Given the description of an element on the screen output the (x, y) to click on. 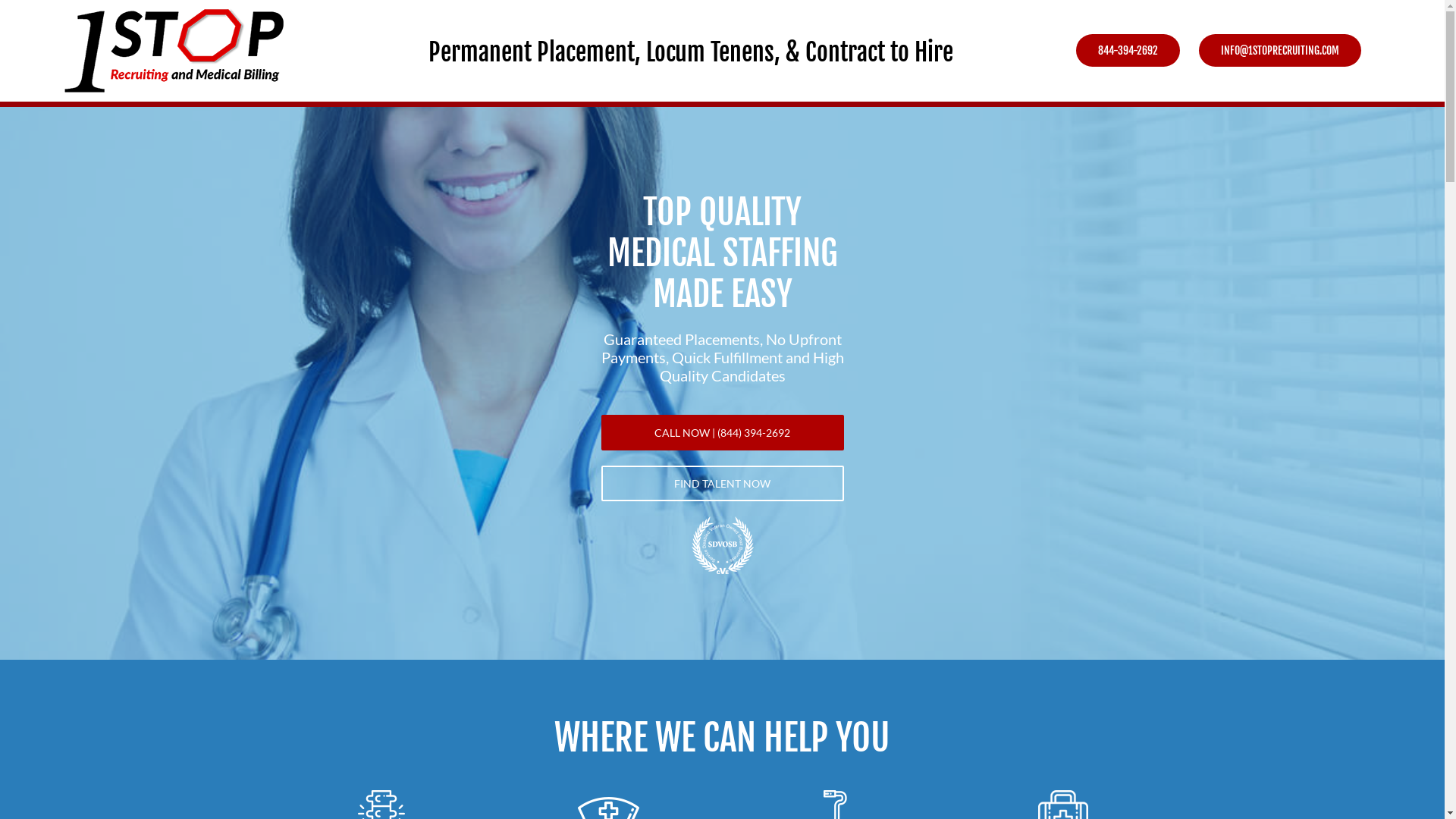
FIND TALENT NOW Element type: text (721, 483)
INFO@1STOPRECRUITING.COM Element type: text (1279, 50)
844-394-2692 Element type: text (1127, 50)
CALL NOW | (844) 394-2692 Element type: text (721, 432)
4432d038-sdvosb-logo_02a024000000000000000 Element type: hover (722, 545)
